Given the description of an element on the screen output the (x, y) to click on. 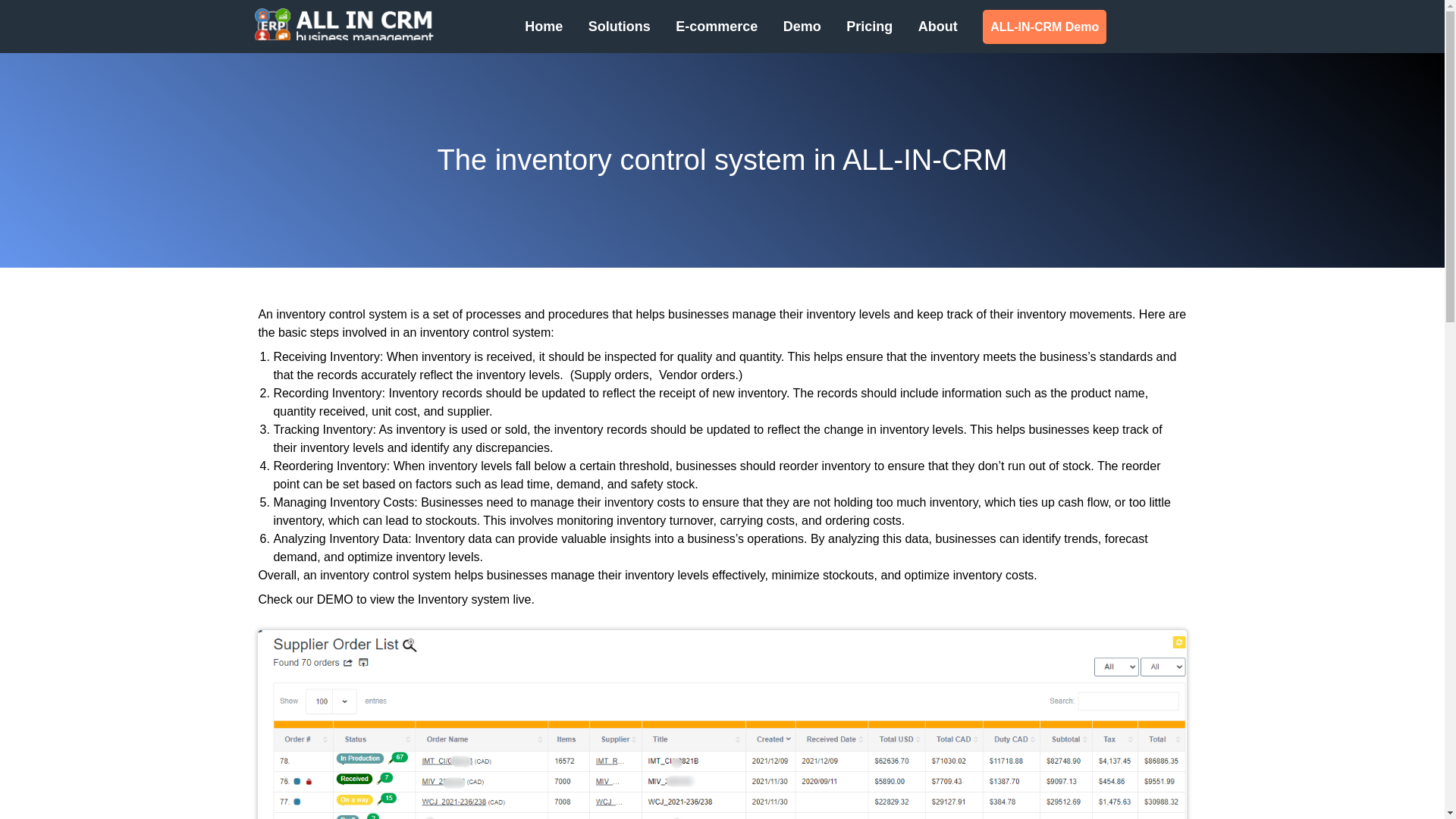
E-commerce (716, 28)
Pricing (868, 28)
About (938, 28)
Demo (802, 28)
Home (543, 28)
Solutions (619, 28)
ALL-IN-CRM (346, 26)
